Given the description of an element on the screen output the (x, y) to click on. 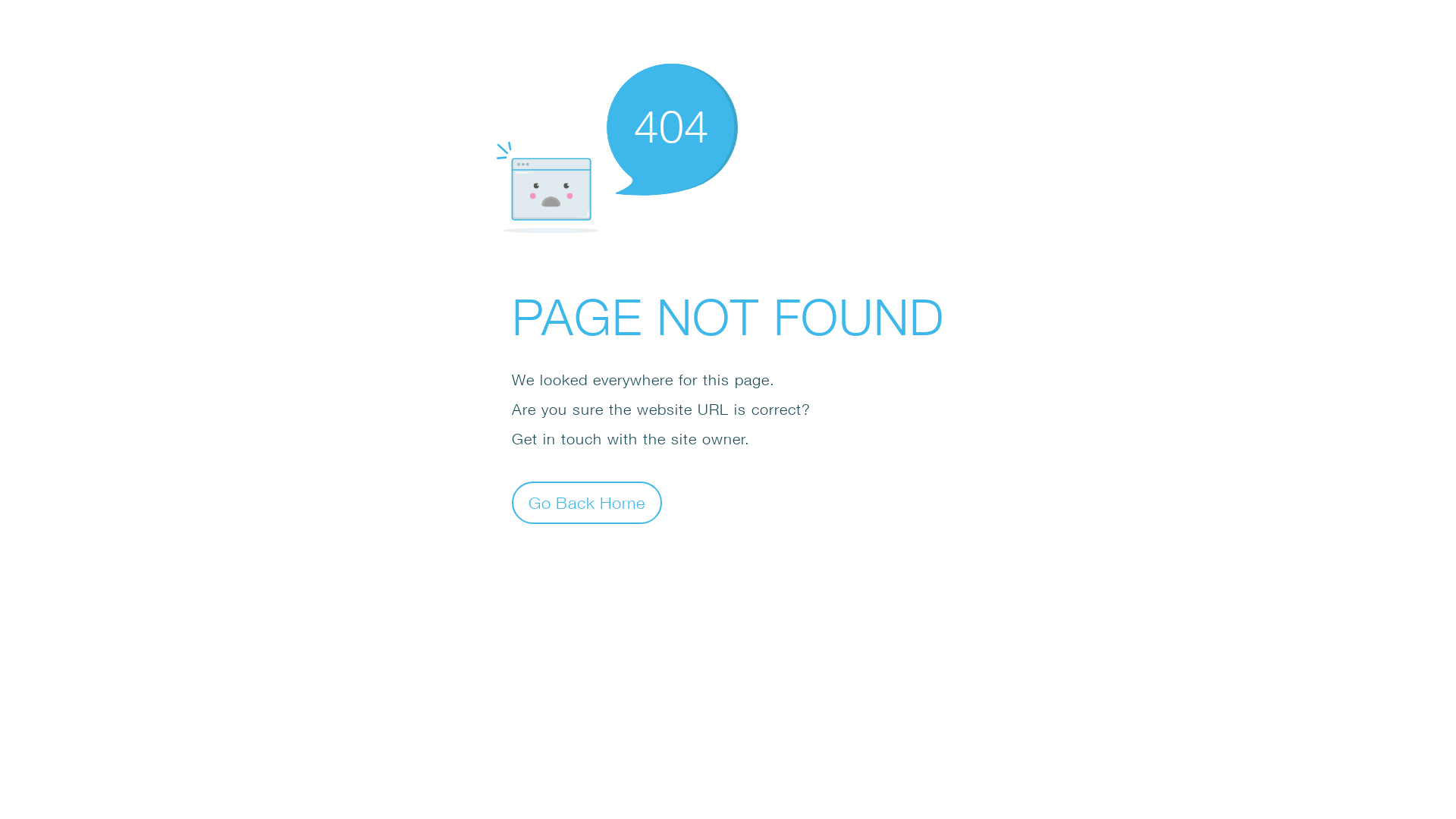
Go Back Home Element type: text (586, 502)
